Given the description of an element on the screen output the (x, y) to click on. 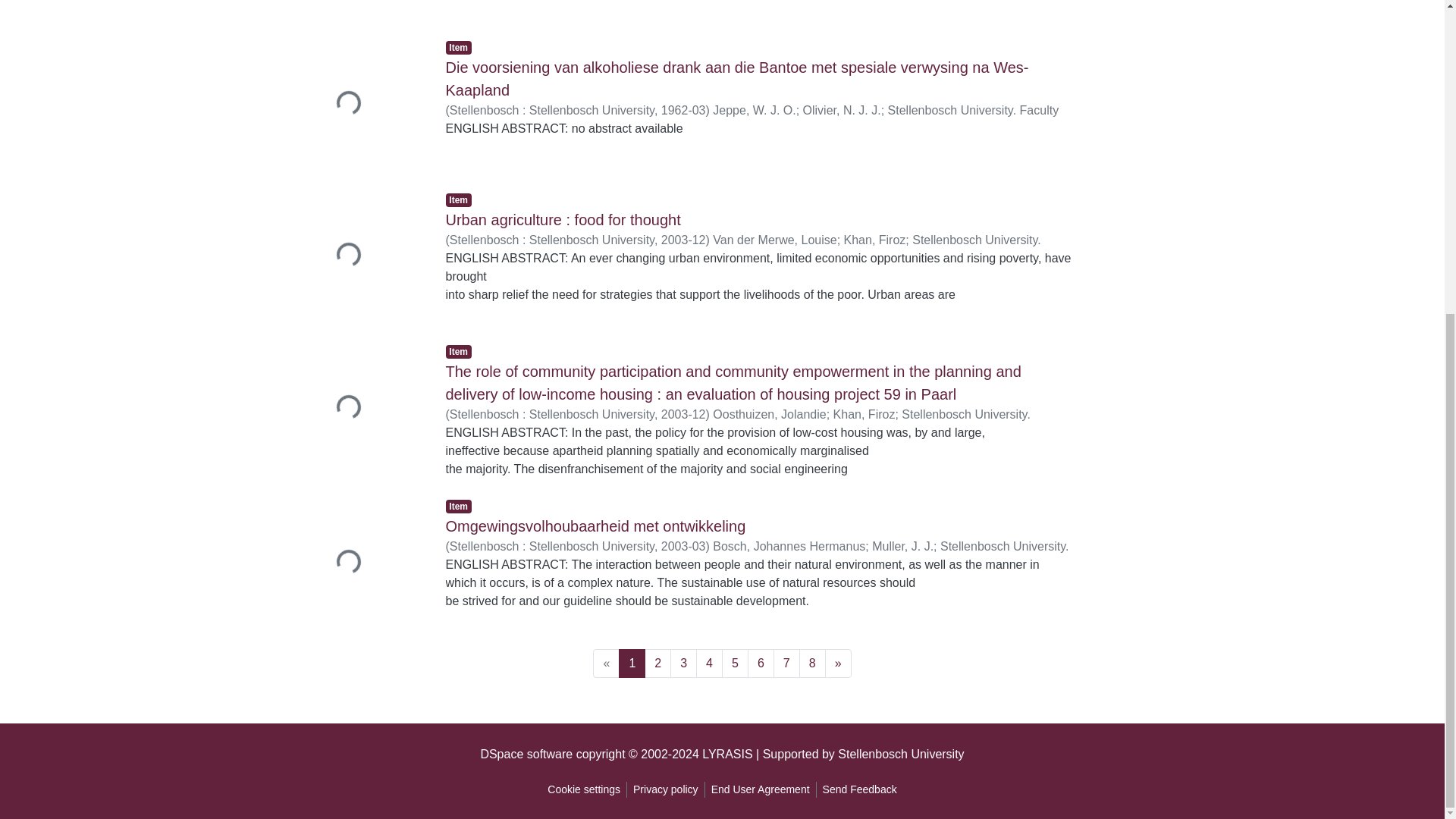
Loading... (362, 257)
Loading... (362, 104)
Urban agriculture : food for thought (563, 219)
Loading... (362, 9)
